Given the description of an element on the screen output the (x, y) to click on. 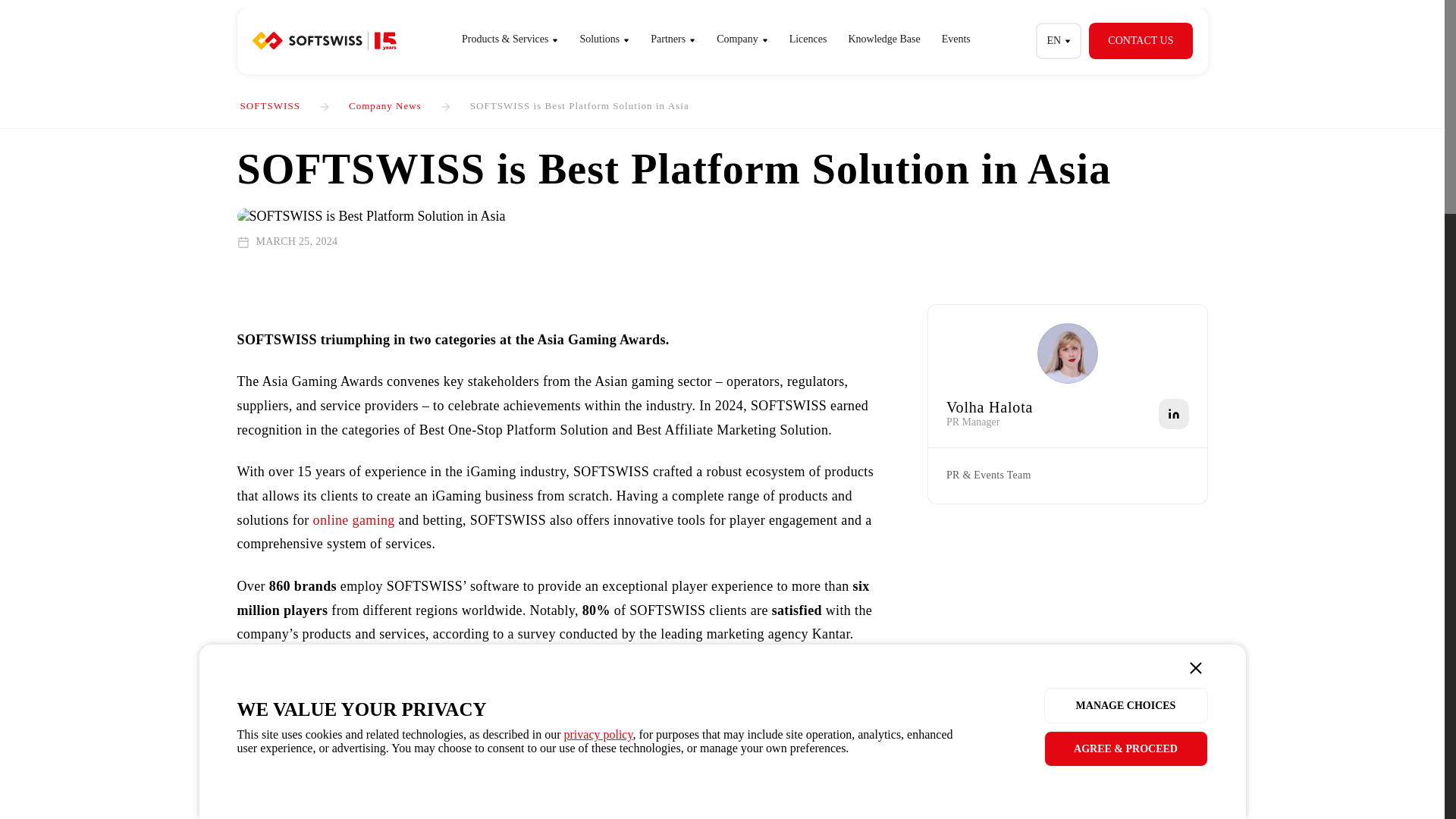
CONTACT US (1140, 40)
SOFTSWISS (269, 105)
Volha Halota (989, 406)
Company News (385, 105)
Knowledge Base (883, 39)
Licences (808, 39)
SOFTSWISS.com (323, 40)
online gaming (353, 519)
Events (956, 39)
EN (1058, 40)
